Given the description of an element on the screen output the (x, y) to click on. 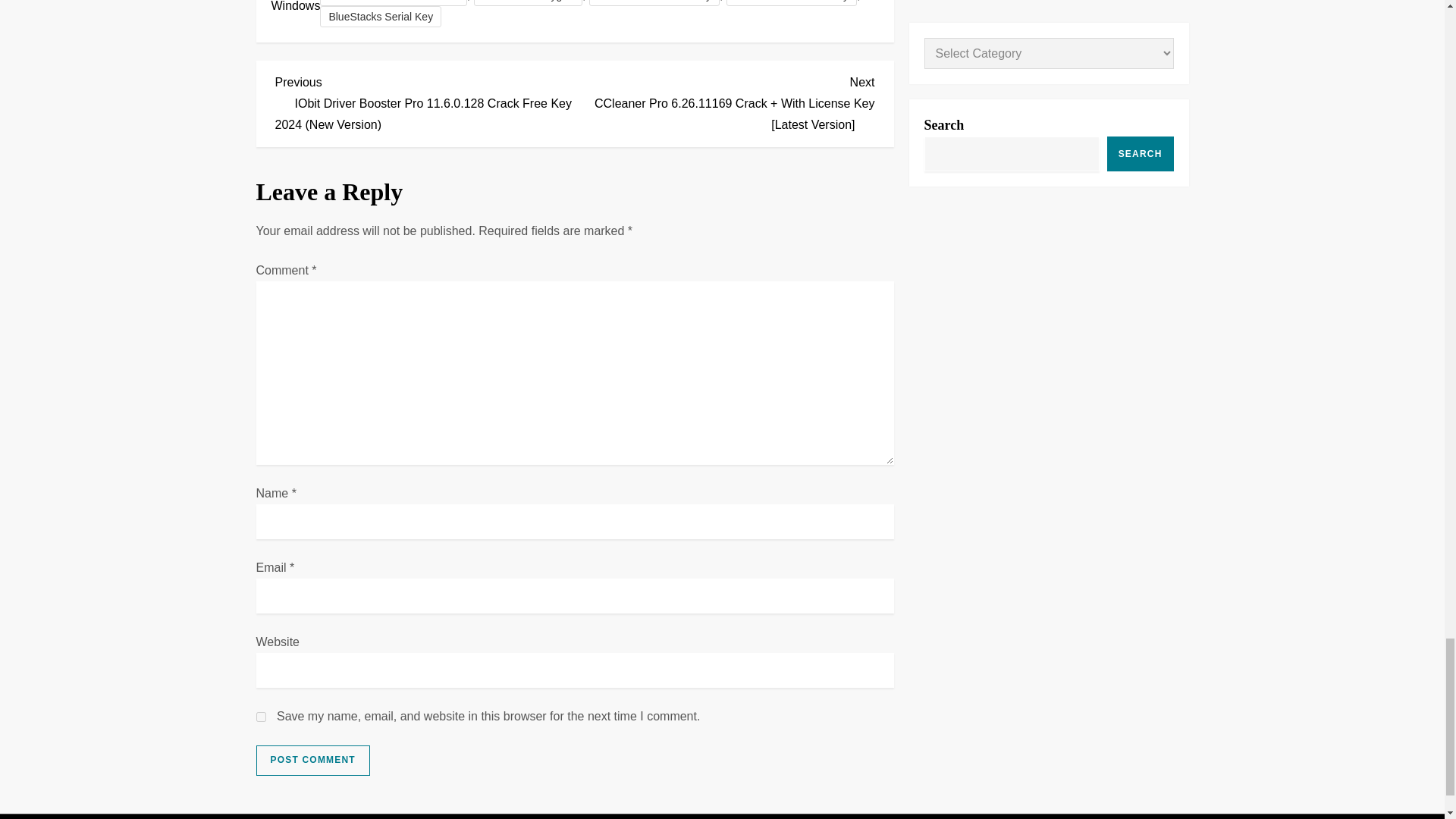
BlueStacks Keygen (528, 2)
BlueStacks Serial Key (380, 16)
BlueStacks License Key (654, 2)
BlueStacks Product Key (791, 2)
Windows (295, 6)
yes (261, 716)
Post Comment (312, 760)
Post Comment (312, 760)
BlueStacks Activation Code (392, 2)
